Given the description of an element on the screen output the (x, y) to click on. 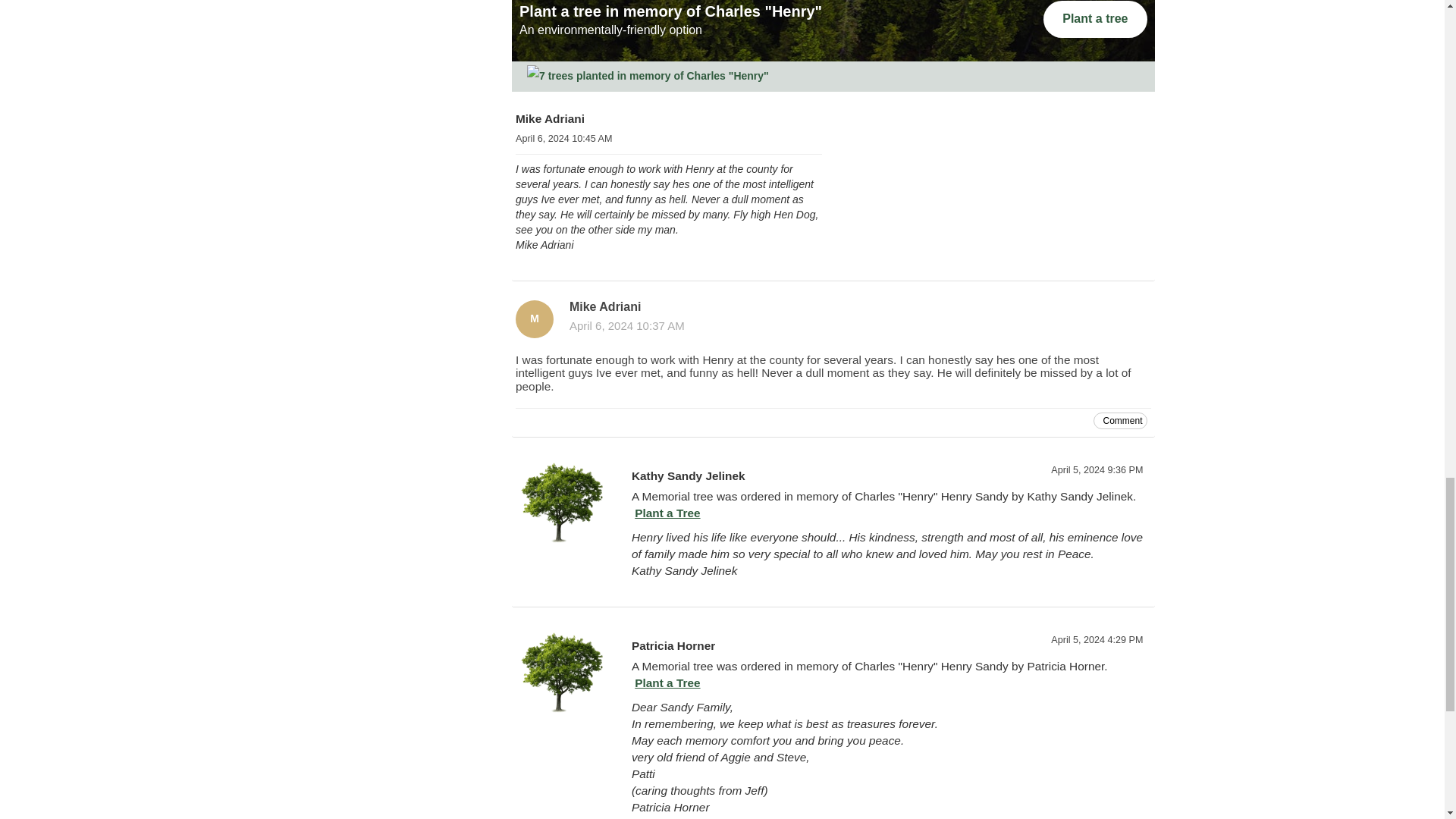
Mike Adriani (534, 319)
Plant a tree (997, 222)
Plant a tree (1095, 18)
  Comment (1120, 420)
Plant a tree (997, 217)
Plant a tree (1095, 19)
